Given the description of an element on the screen output the (x, y) to click on. 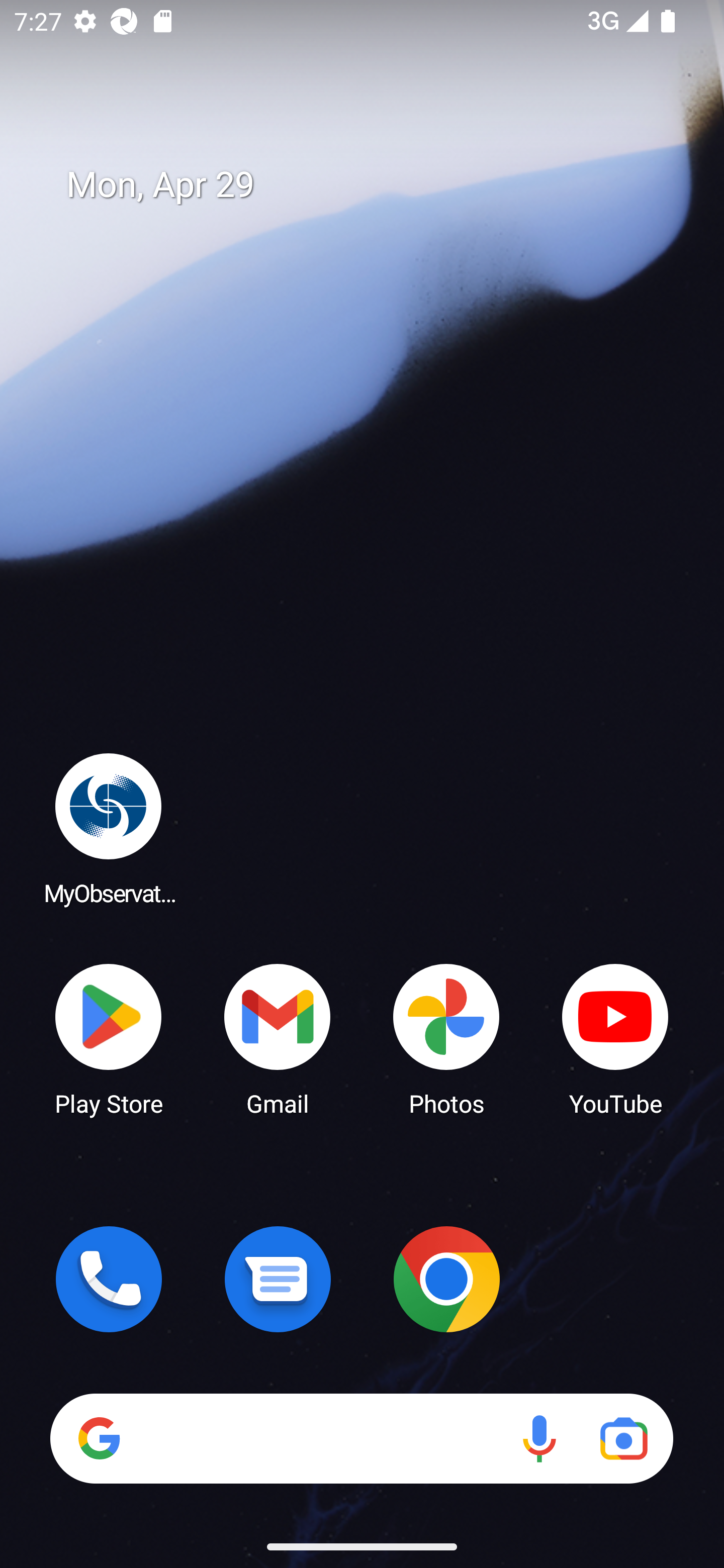
Mon, Apr 29 (375, 184)
MyObservatory (108, 828)
Play Store (108, 1038)
Gmail (277, 1038)
Photos (445, 1038)
YouTube (615, 1038)
Phone (108, 1279)
Messages (277, 1279)
Chrome (446, 1279)
Voice search (539, 1438)
Google Lens (623, 1438)
